Given the description of an element on the screen output the (x, y) to click on. 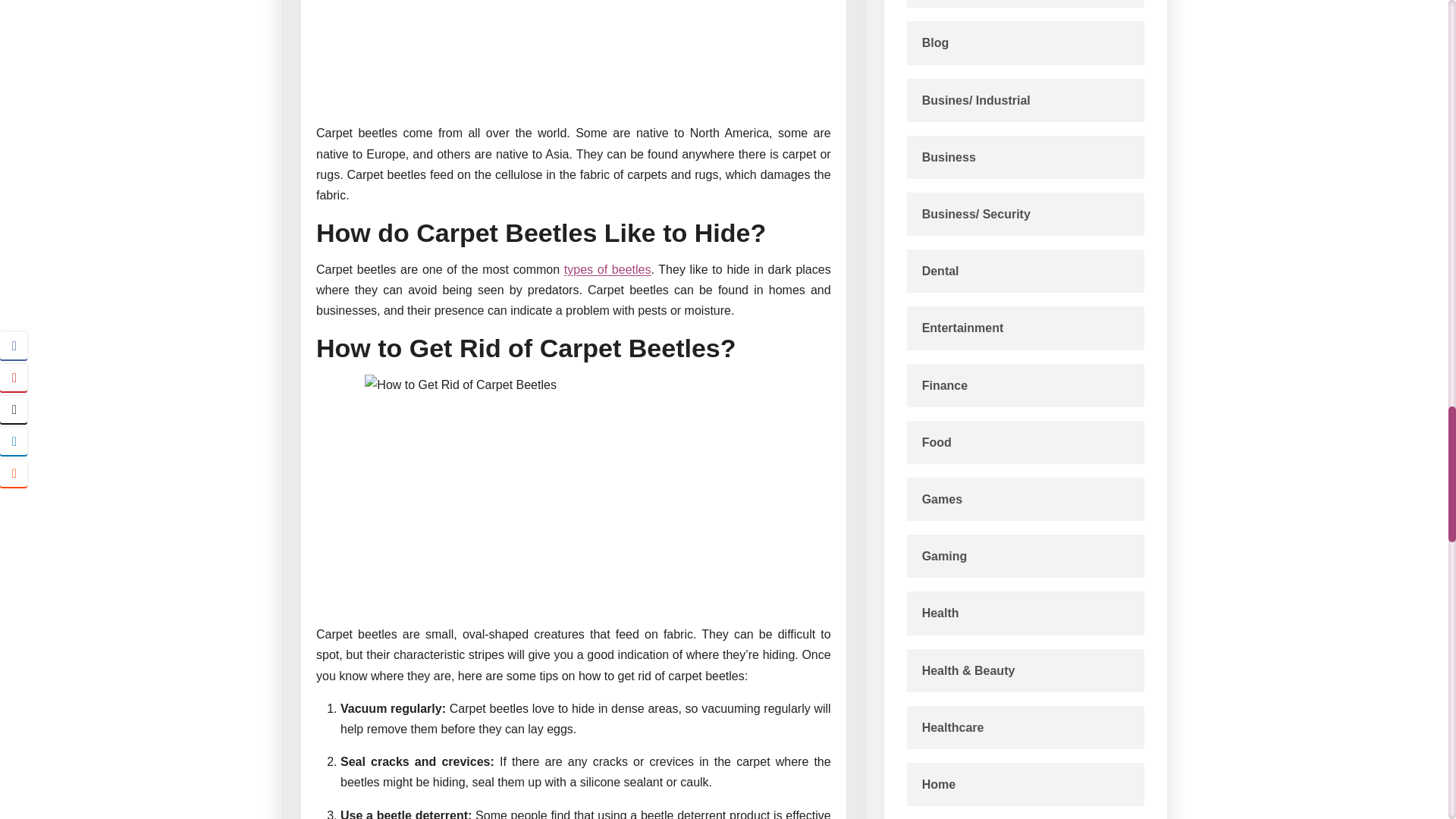
Blog (935, 42)
types of beetles (607, 269)
